Given the description of an element on the screen output the (x, y) to click on. 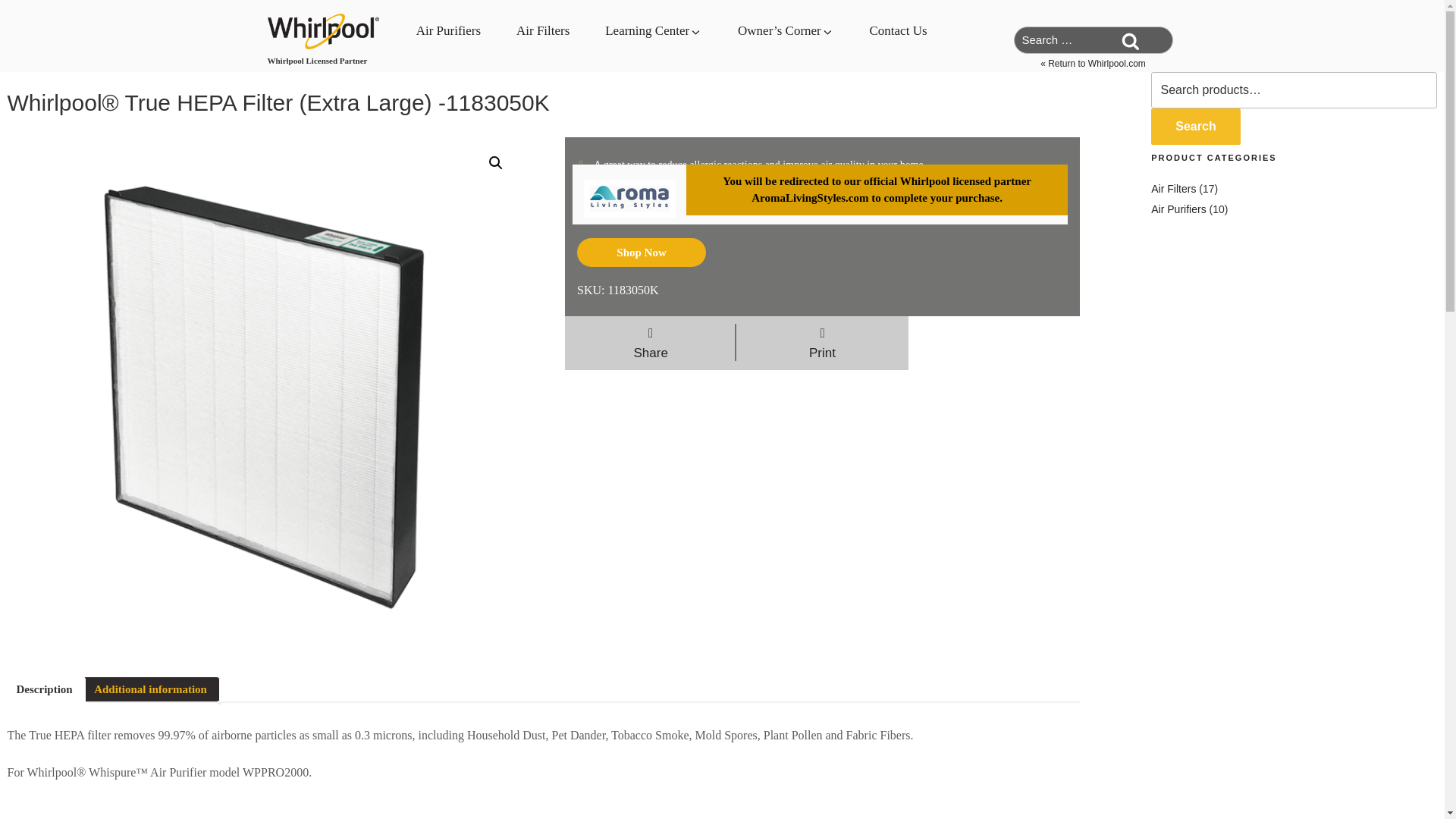
Contact Us (889, 28)
Learning Center (636, 35)
Air Filters (526, 35)
Search (1130, 38)
Description (44, 689)
Additional information (150, 689)
Share (650, 343)
Air Purifiers (432, 35)
Print (821, 343)
